Given the description of an element on the screen output the (x, y) to click on. 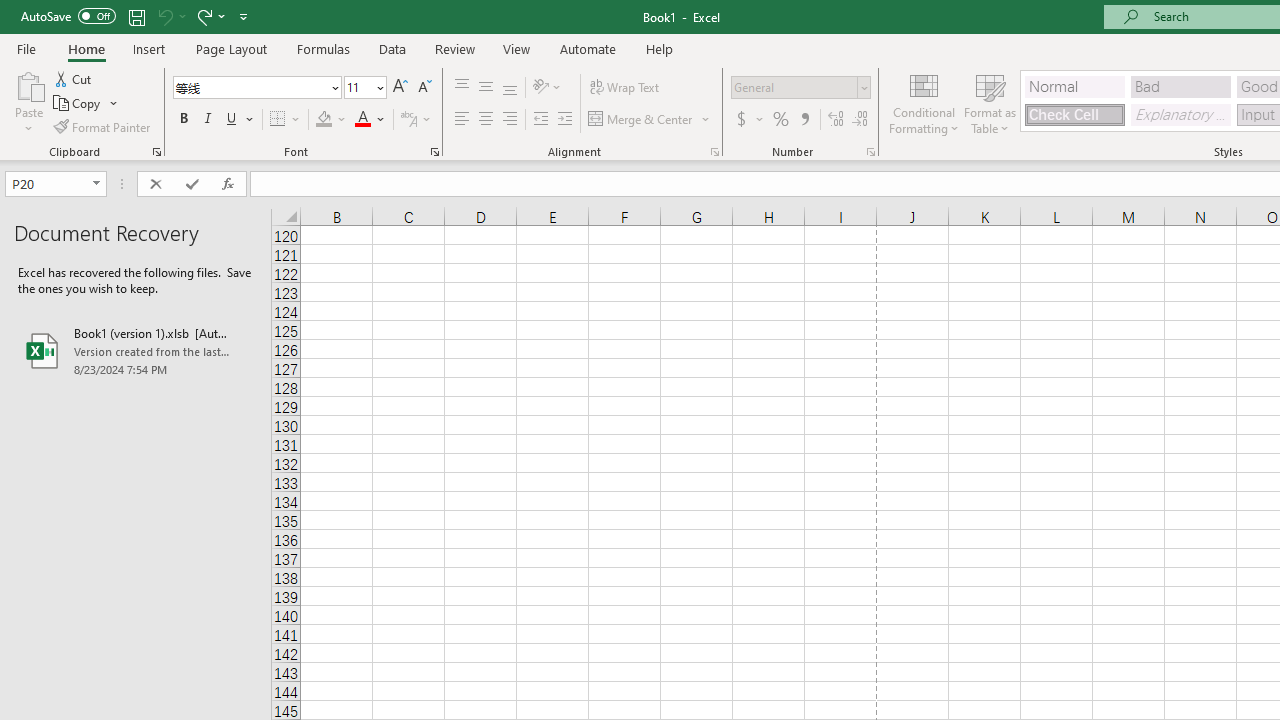
Cut (73, 78)
Middle Align (485, 87)
Format Cell Number (870, 151)
Accounting Number Format (741, 119)
Font (256, 87)
Italic (207, 119)
Bad (1180, 86)
Format as Table (990, 102)
Font Size (365, 87)
